Given the description of an element on the screen output the (x, y) to click on. 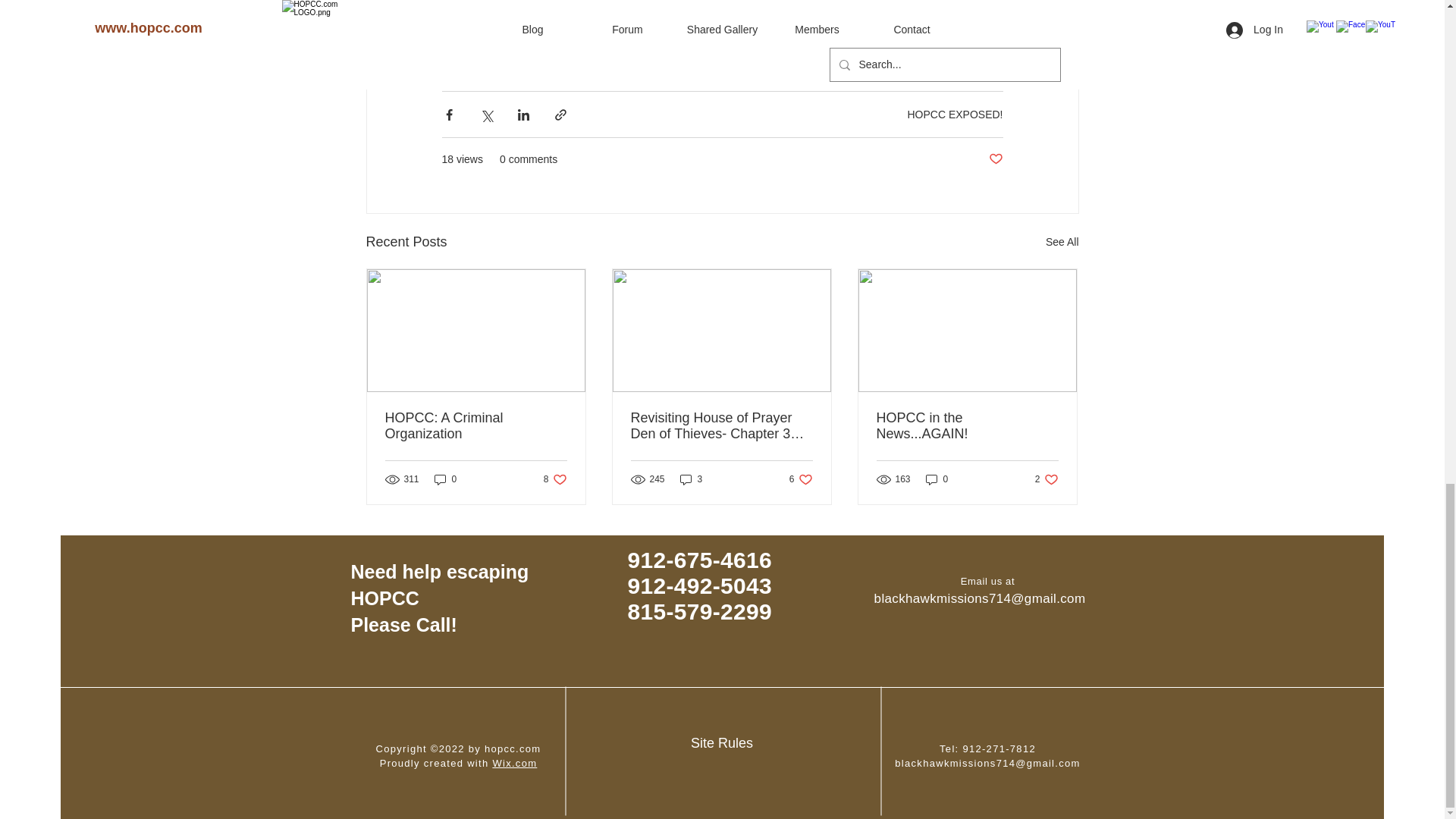
0 (937, 479)
Post not marked as liked (995, 159)
0 (445, 479)
HOPCC in the News...AGAIN! (555, 479)
See All (1046, 479)
HOPCC: A Criminal Organization (967, 426)
HOPCC EXPOSED! (800, 479)
